Given the description of an element on the screen output the (x, y) to click on. 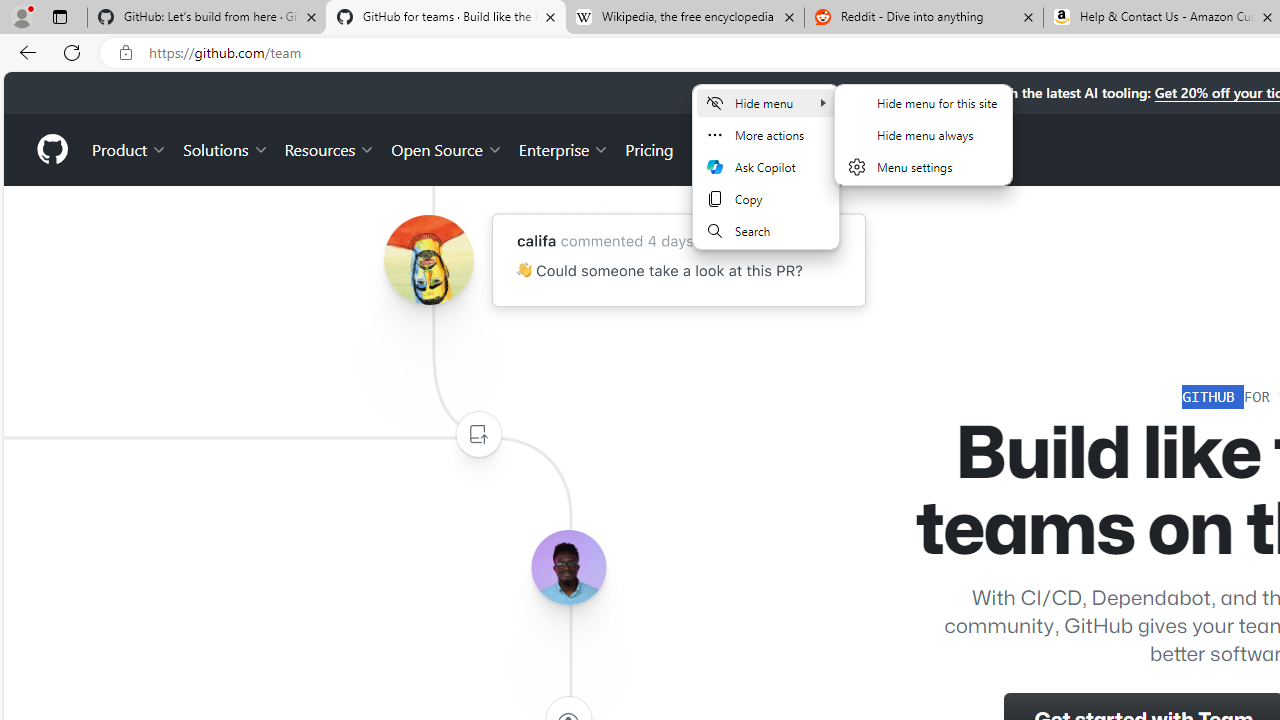
Avatar of the user lerebear (568, 567)
Open Source (446, 148)
Hide menu (765, 102)
Hide menu for this site (923, 102)
Enterprise (563, 148)
Copy (765, 198)
Enterprise (563, 148)
